Given the description of an element on the screen output the (x, y) to click on. 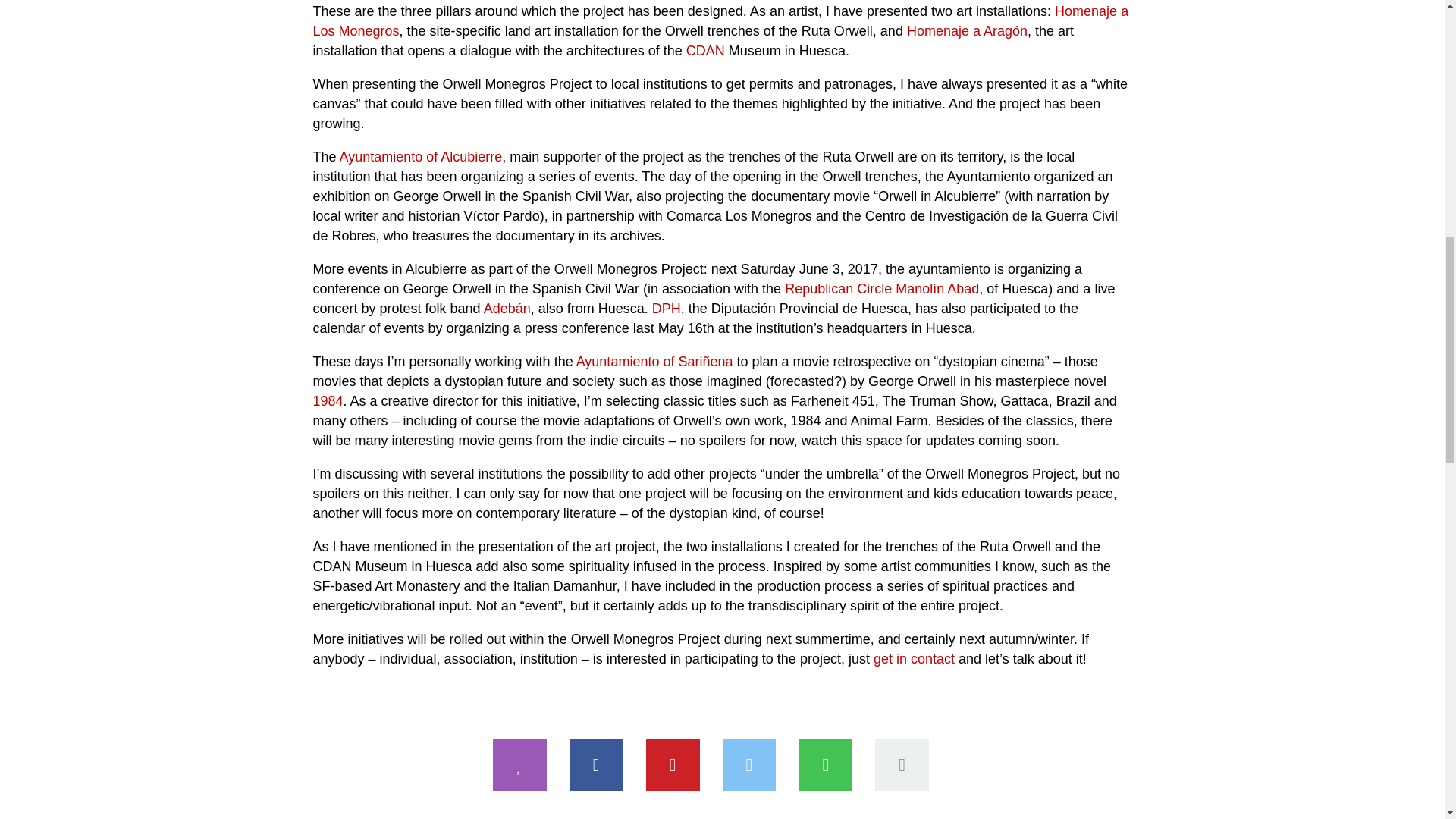
WhatsApp (824, 765)
Facebook (596, 765)
Show all networks (901, 765)
CDAN (705, 50)
get in contact (914, 658)
DPH (666, 308)
Twitter (749, 765)
Pinterest (673, 765)
Like (520, 765)
Ayuntamiento of Alcubierre (420, 156)
Homenaje a Los Monegros (720, 21)
1984 (327, 400)
